Given the description of an element on the screen output the (x, y) to click on. 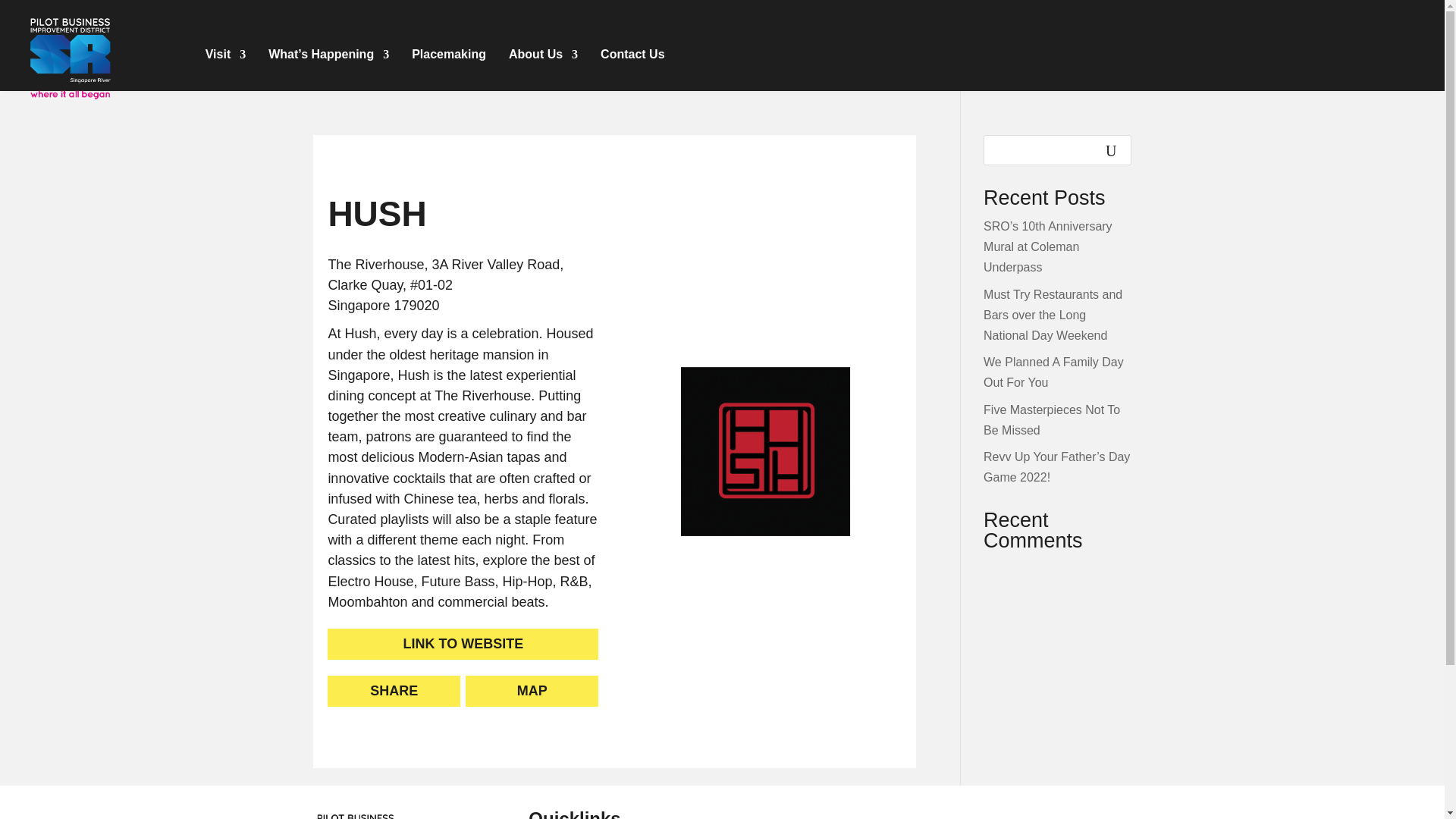
SHARE (393, 690)
Contact Us (631, 56)
hush (765, 451)
Placemaking (449, 56)
Search (1110, 150)
Search (21, 13)
LINK TO WEBSITE (462, 644)
Visit (225, 56)
About Us (543, 56)
